Given the description of an element on the screen output the (x, y) to click on. 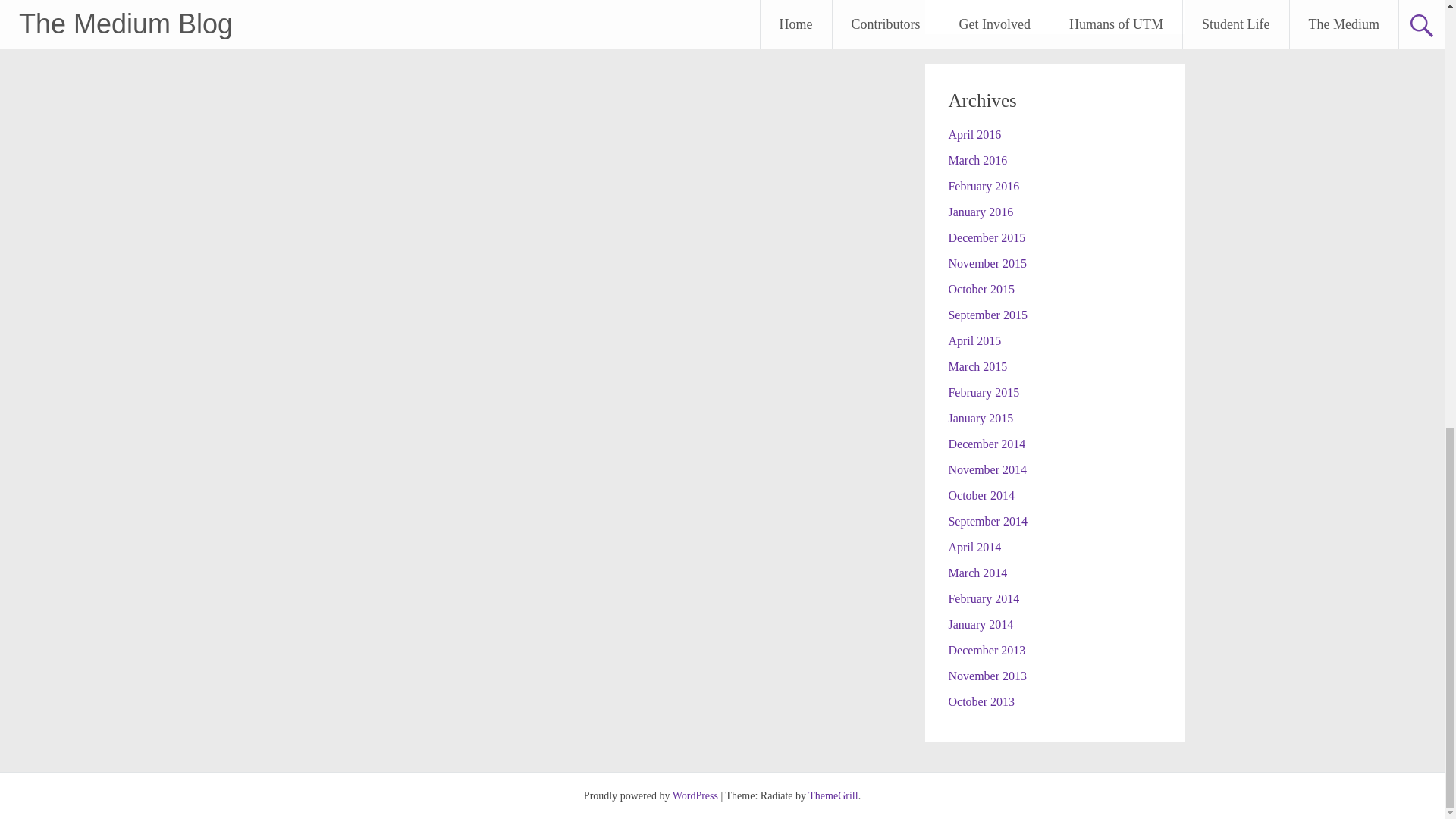
January 2016 (980, 211)
February 2016 (983, 185)
March 2016 (977, 160)
April 2016 (974, 133)
December 2015 (986, 237)
November 2015 (986, 263)
